Given the description of an element on the screen output the (x, y) to click on. 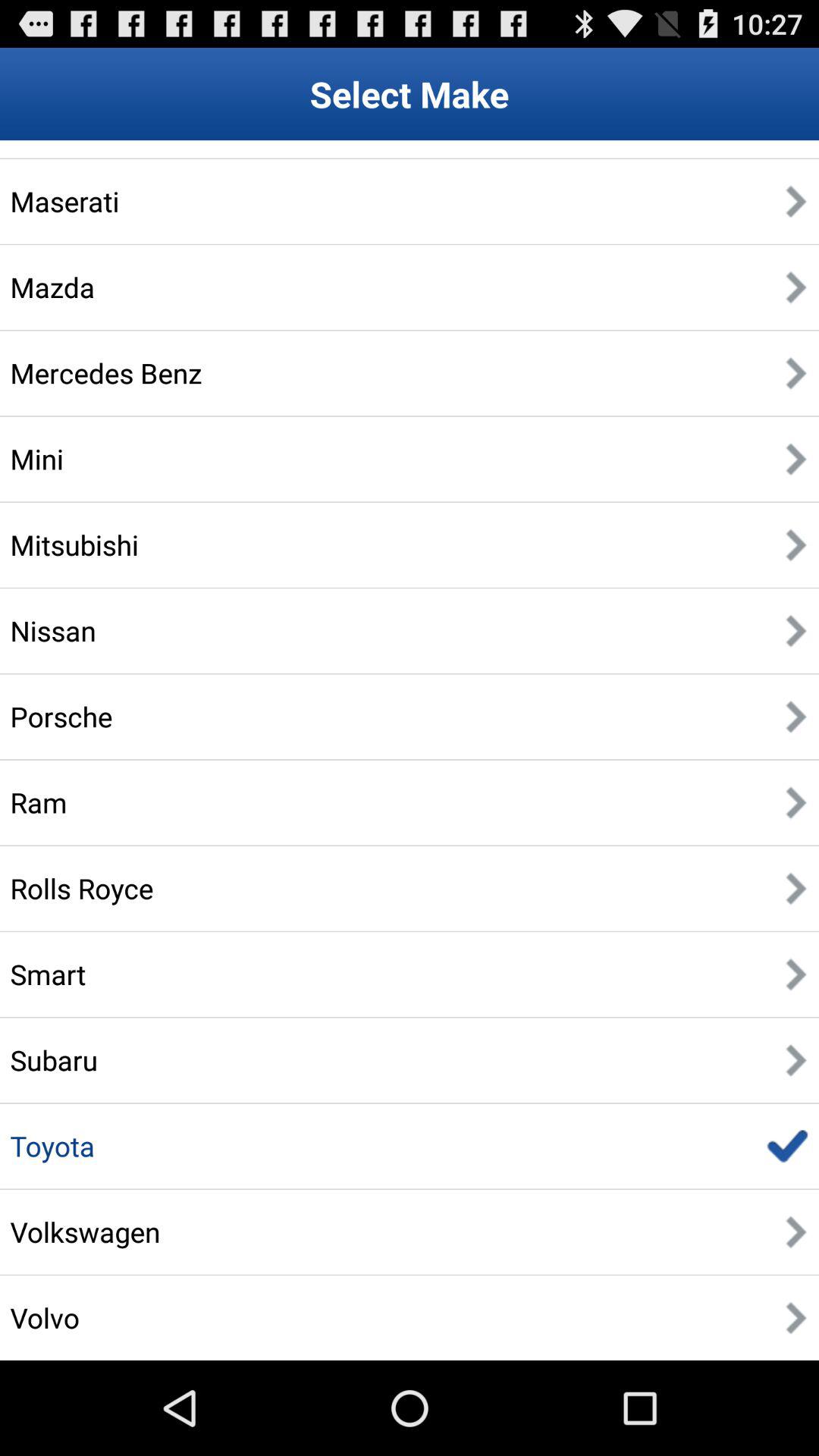
turn off the porsche (61, 716)
